Given the description of an element on the screen output the (x, y) to click on. 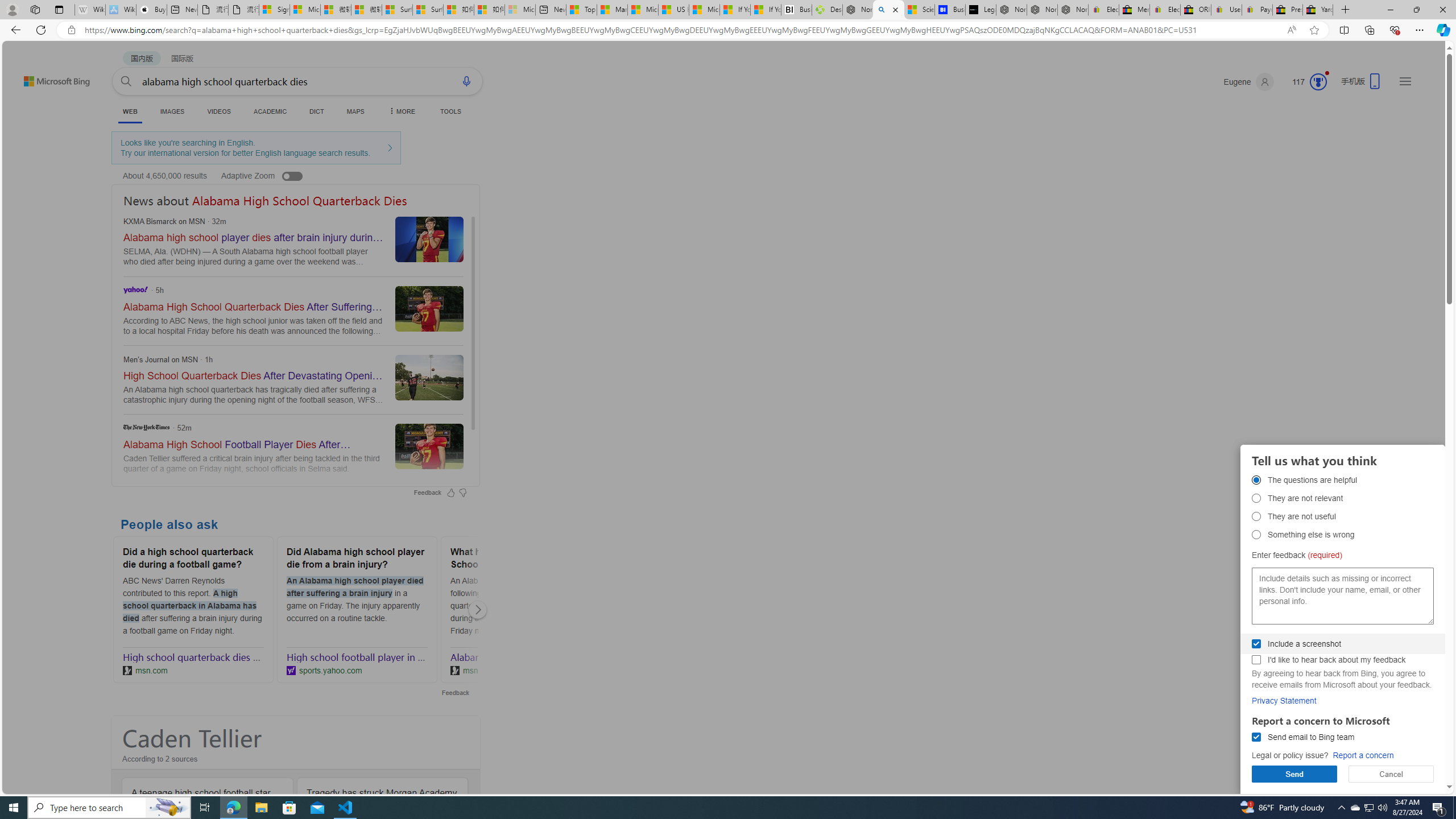
Include a screenshot Include a screenshot (1256, 643)
